Given the description of an element on the screen output the (x, y) to click on. 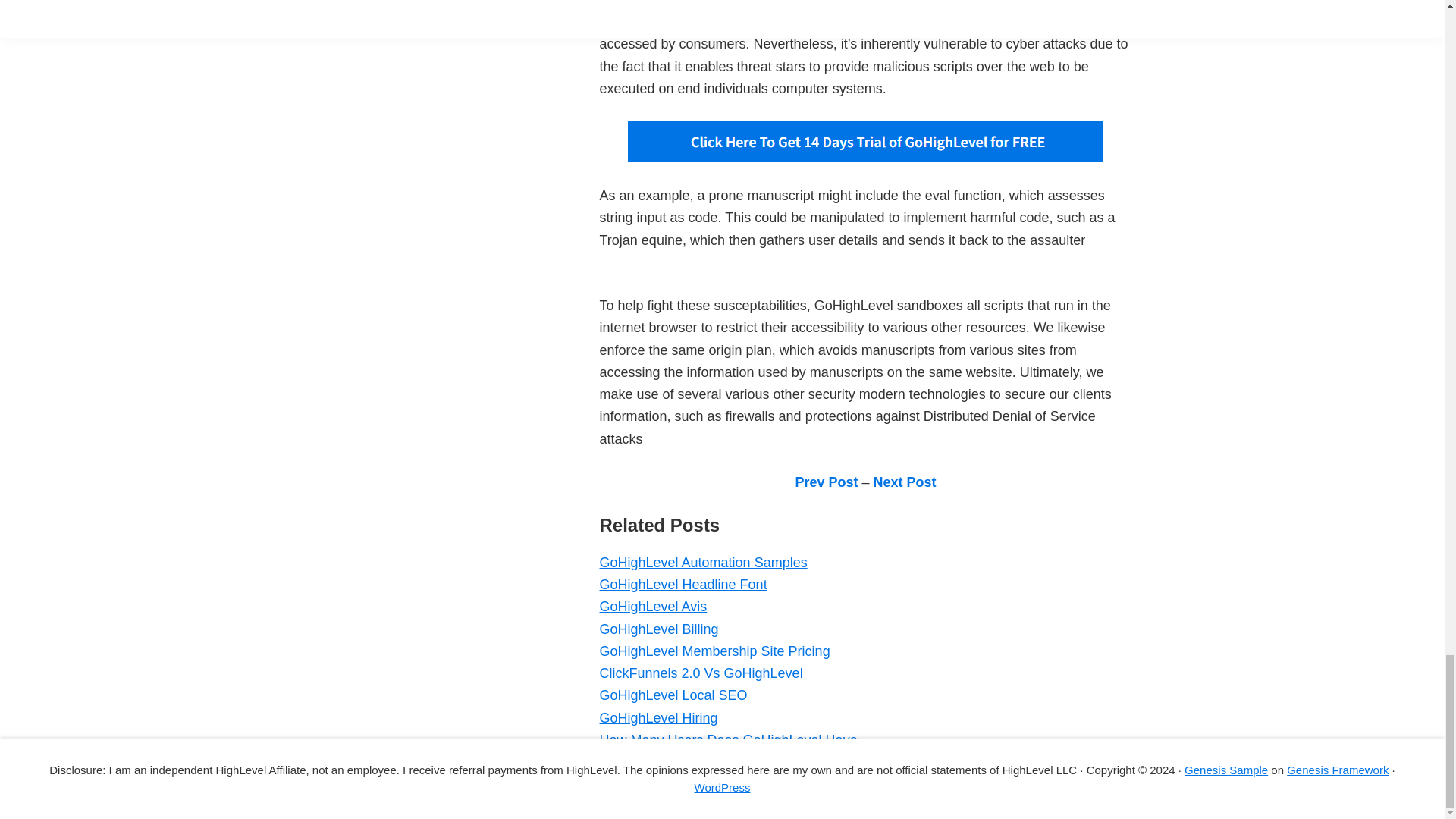
GoHighLevel Automation Samples (702, 562)
GoHighLevel Hiring (657, 717)
How Many Users Does GoHighLevel Have (727, 739)
GoHighLevel Local SEO (672, 694)
GoHighLevel For Photographers (696, 761)
GoHighLevel Local SEO (672, 694)
GoHighLevel Avis (652, 606)
ClickFunnels 2.0 Vs GoHighLevel (700, 672)
GoHighLevel Billing (657, 629)
Prev Post (825, 482)
